Given the description of an element on the screen output the (x, y) to click on. 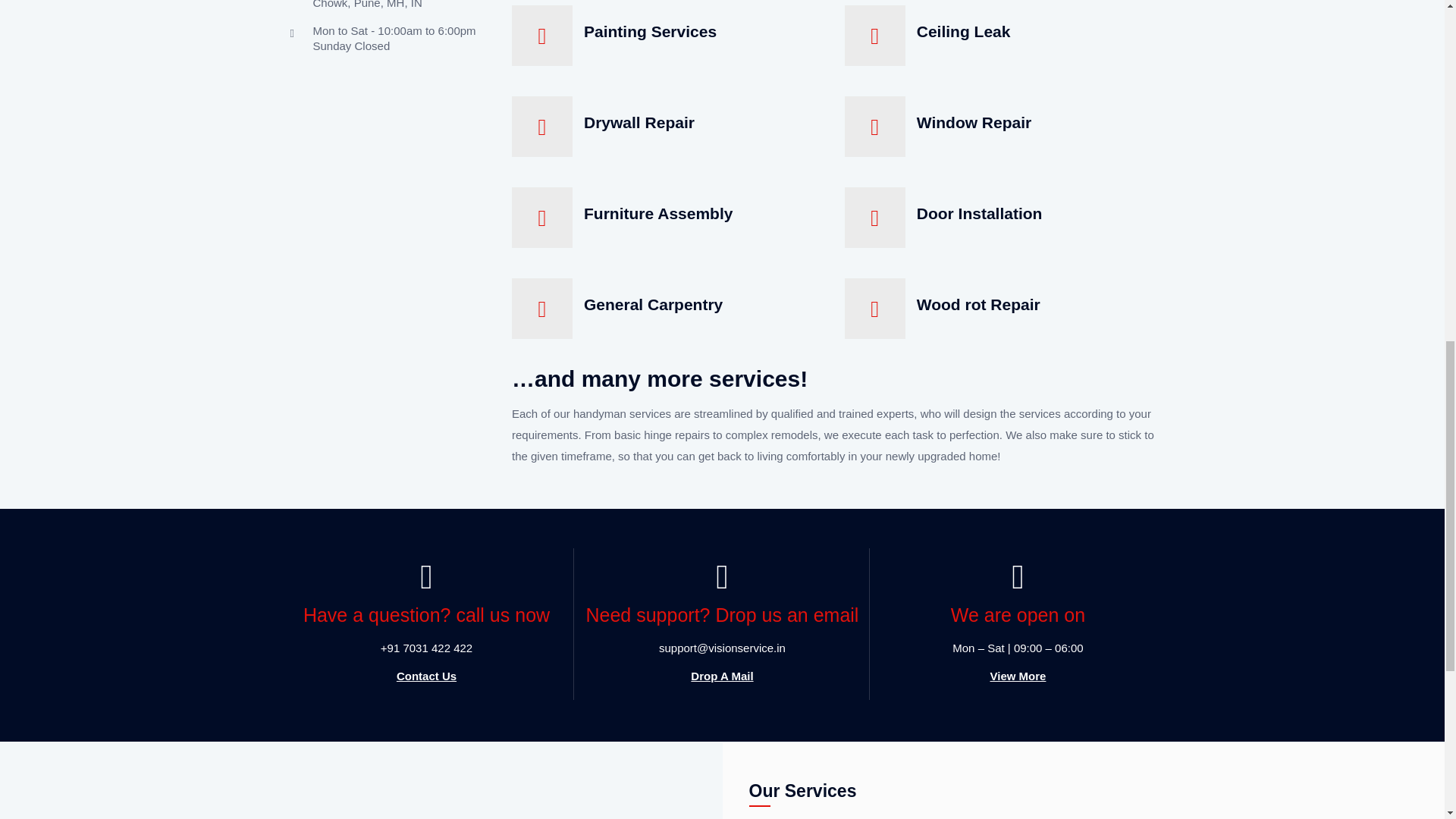
Contact Us (426, 675)
View More (1018, 675)
Drop A Mail (721, 675)
